Given the description of an element on the screen output the (x, y) to click on. 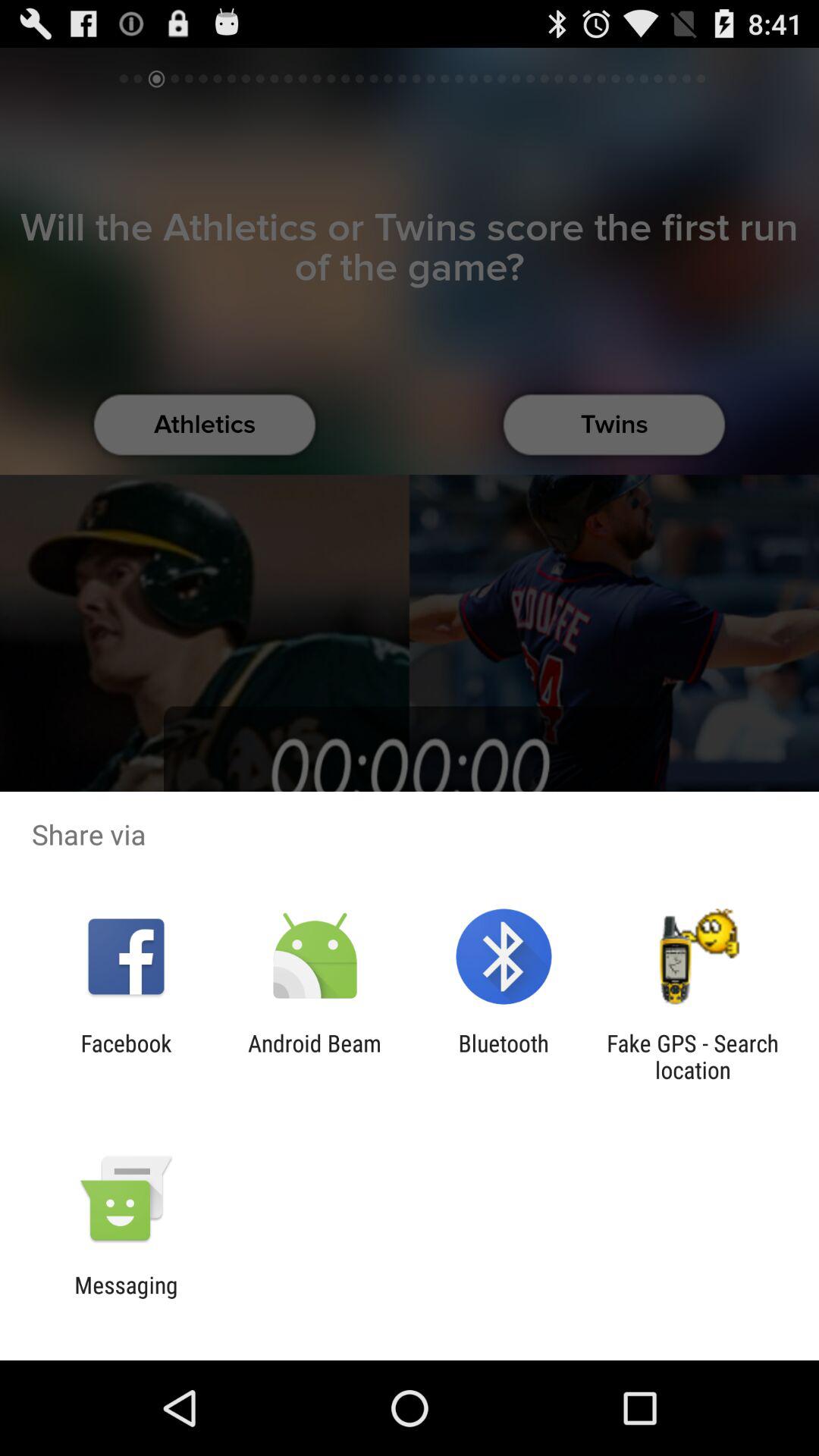
choose item to the left of the fake gps search icon (503, 1056)
